Given the description of an element on the screen output the (x, y) to click on. 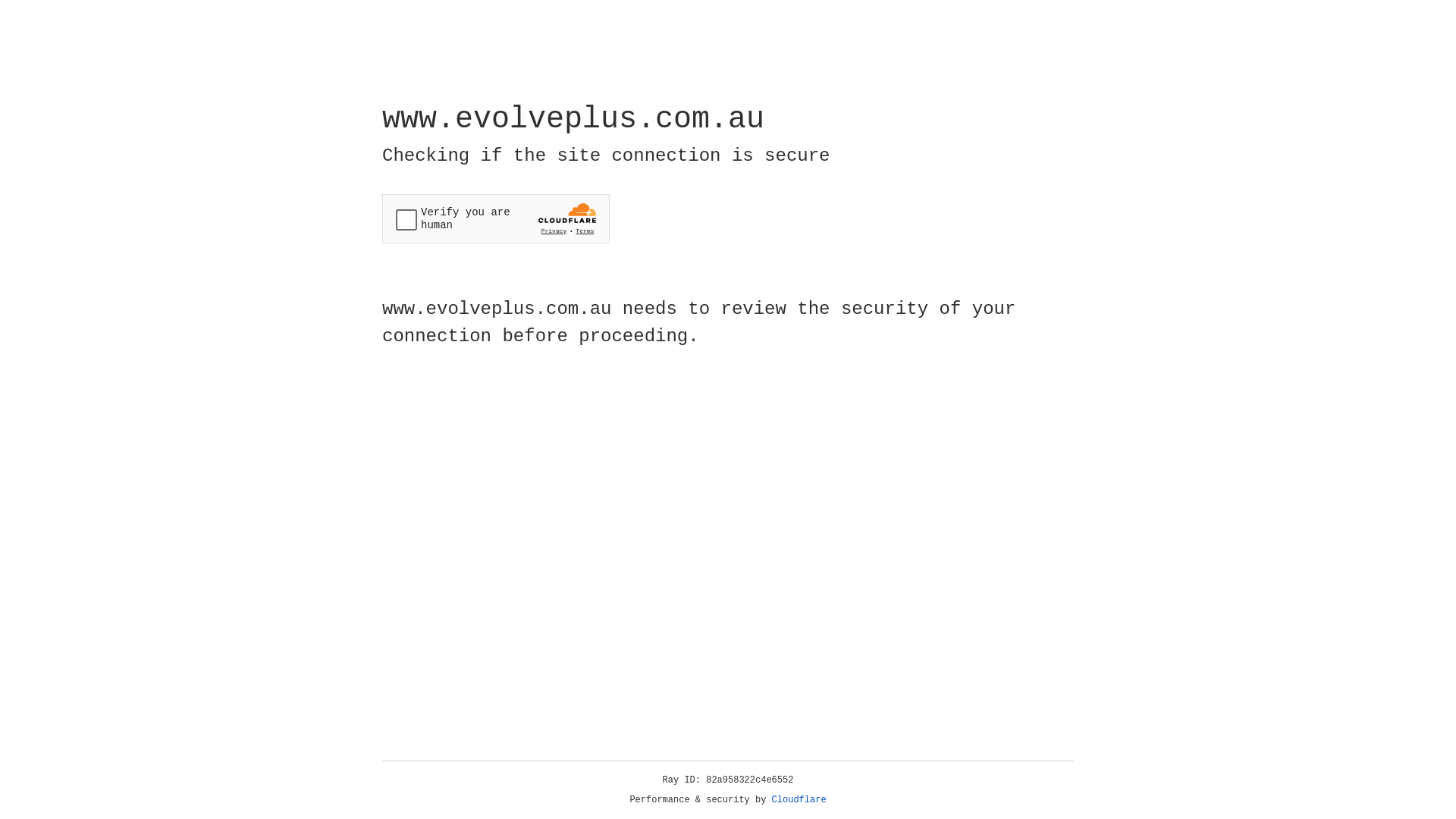
Cloudflare Element type: text (798, 799)
Widget containing a Cloudflare security challenge Element type: hover (495, 218)
